Given the description of an element on the screen output the (x, y) to click on. 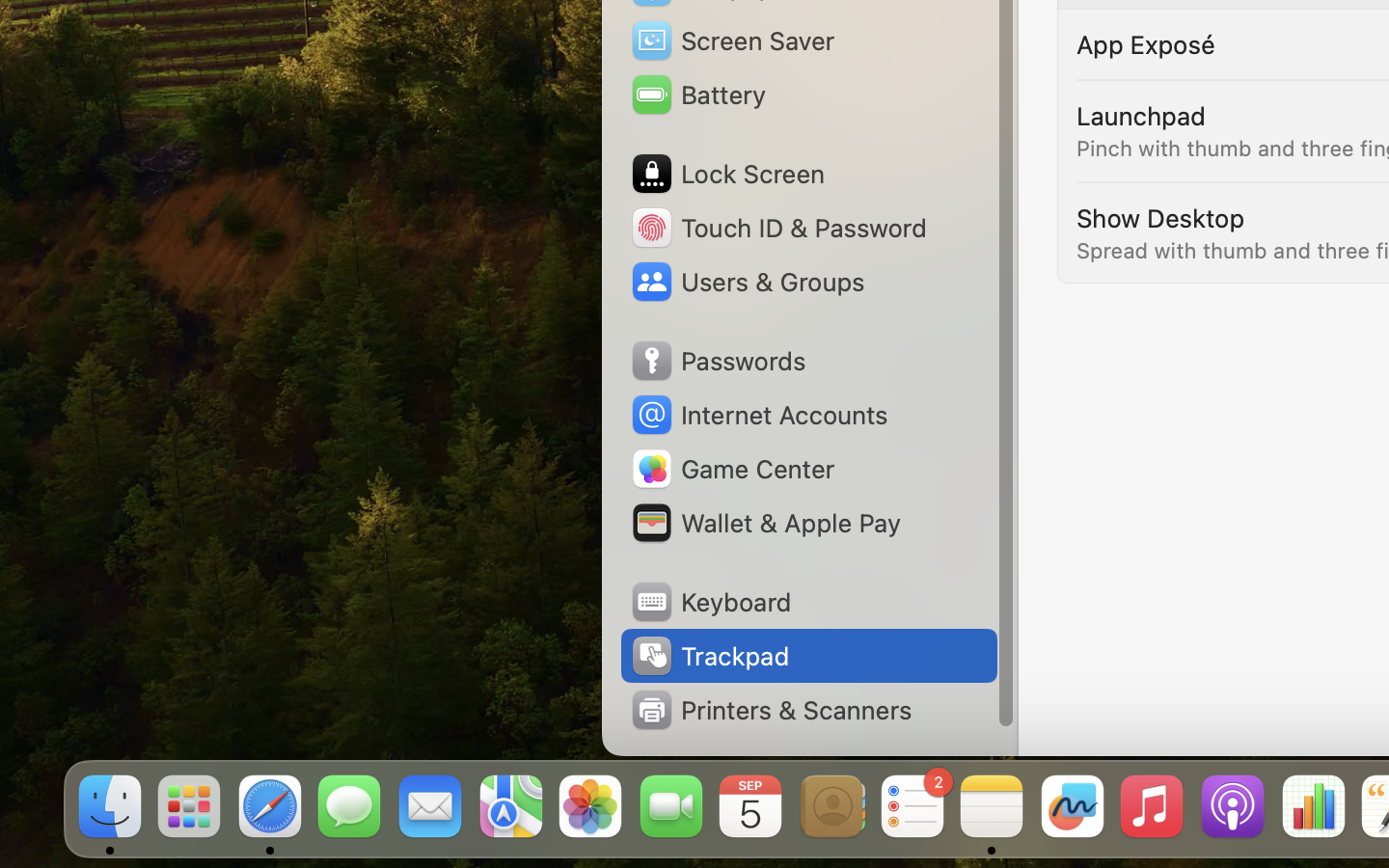
Users & Groups Element type: AXStaticText (746, 281)
Game Center Element type: AXStaticText (731, 468)
Touch ID & Password Element type: AXStaticText (777, 227)
Wallet & Apple Pay Element type: AXStaticText (764, 522)
Show Desktop Element type: AXStaticText (1160, 217)
